Given the description of an element on the screen output the (x, y) to click on. 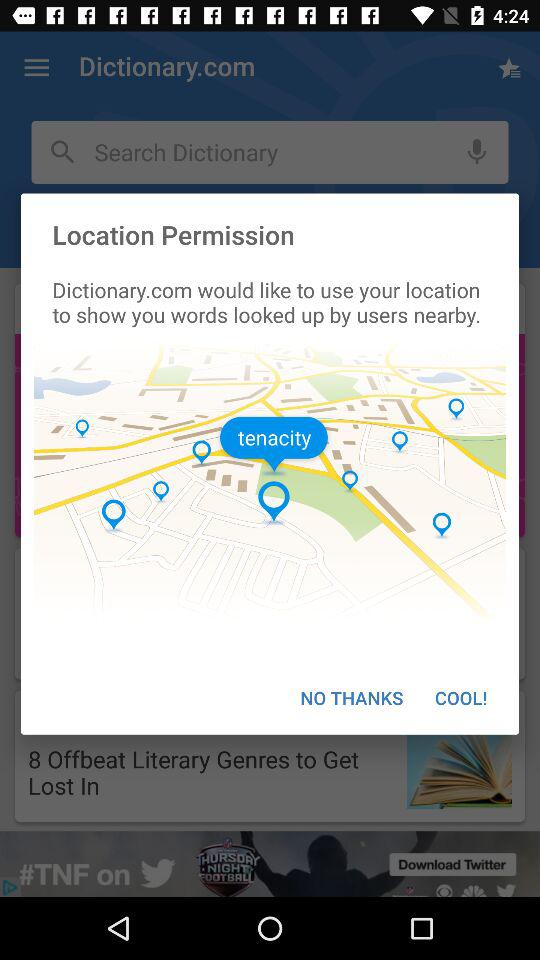
swipe to the no thanks icon (351, 697)
